Given the description of an element on the screen output the (x, y) to click on. 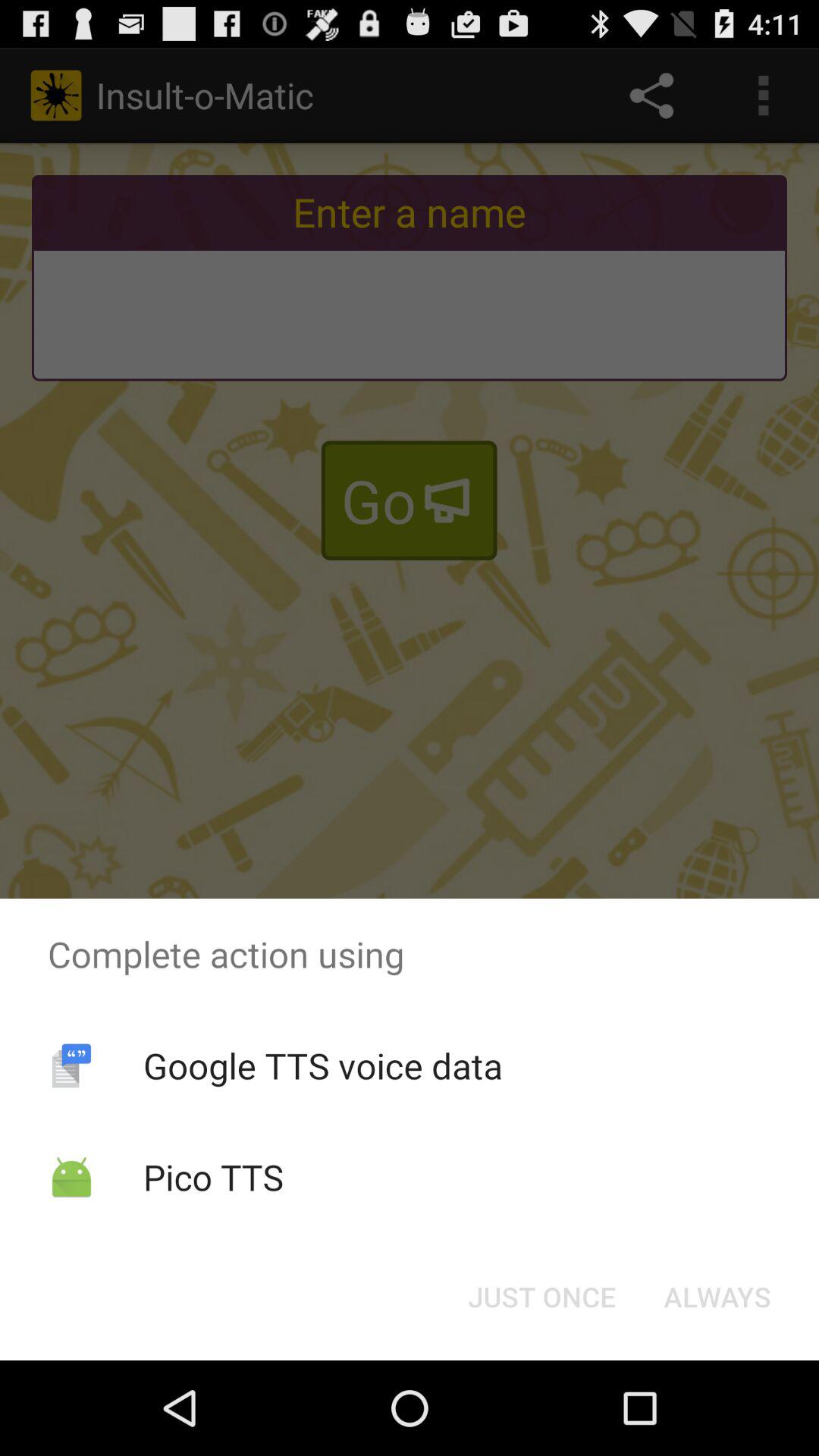
click the just once button (541, 1296)
